Given the description of an element on the screen output the (x, y) to click on. 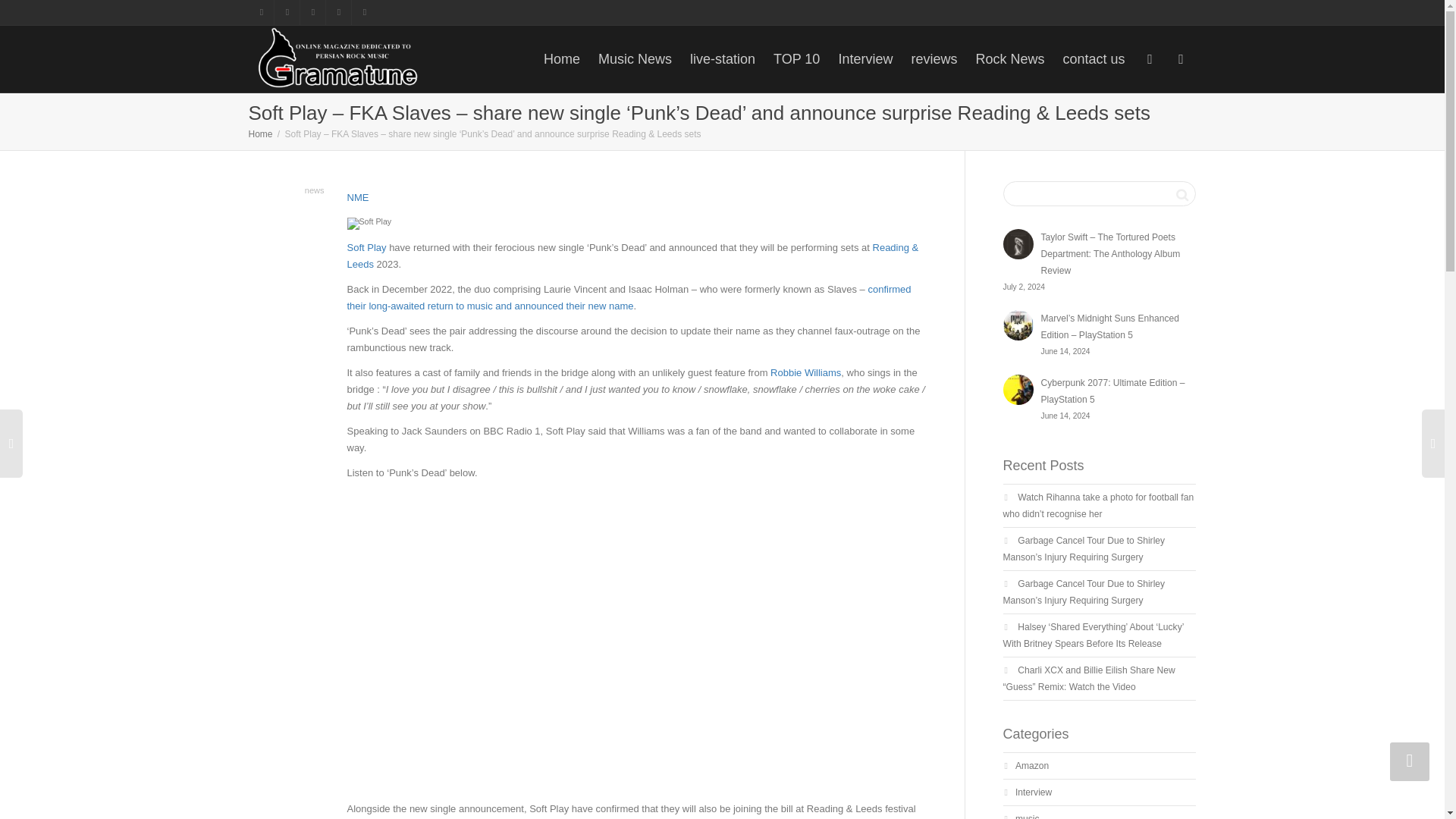
Robbie Williams (805, 372)
Rock News (1009, 58)
contact us (1093, 58)
news (314, 189)
live-station (722, 58)
Home (260, 133)
contact us (1093, 58)
Music News (634, 58)
live-station (722, 58)
NME (358, 197)
Music News (634, 58)
Soft Play (367, 247)
Search (1181, 194)
Rock News (1009, 58)
